Given the description of an element on the screen output the (x, y) to click on. 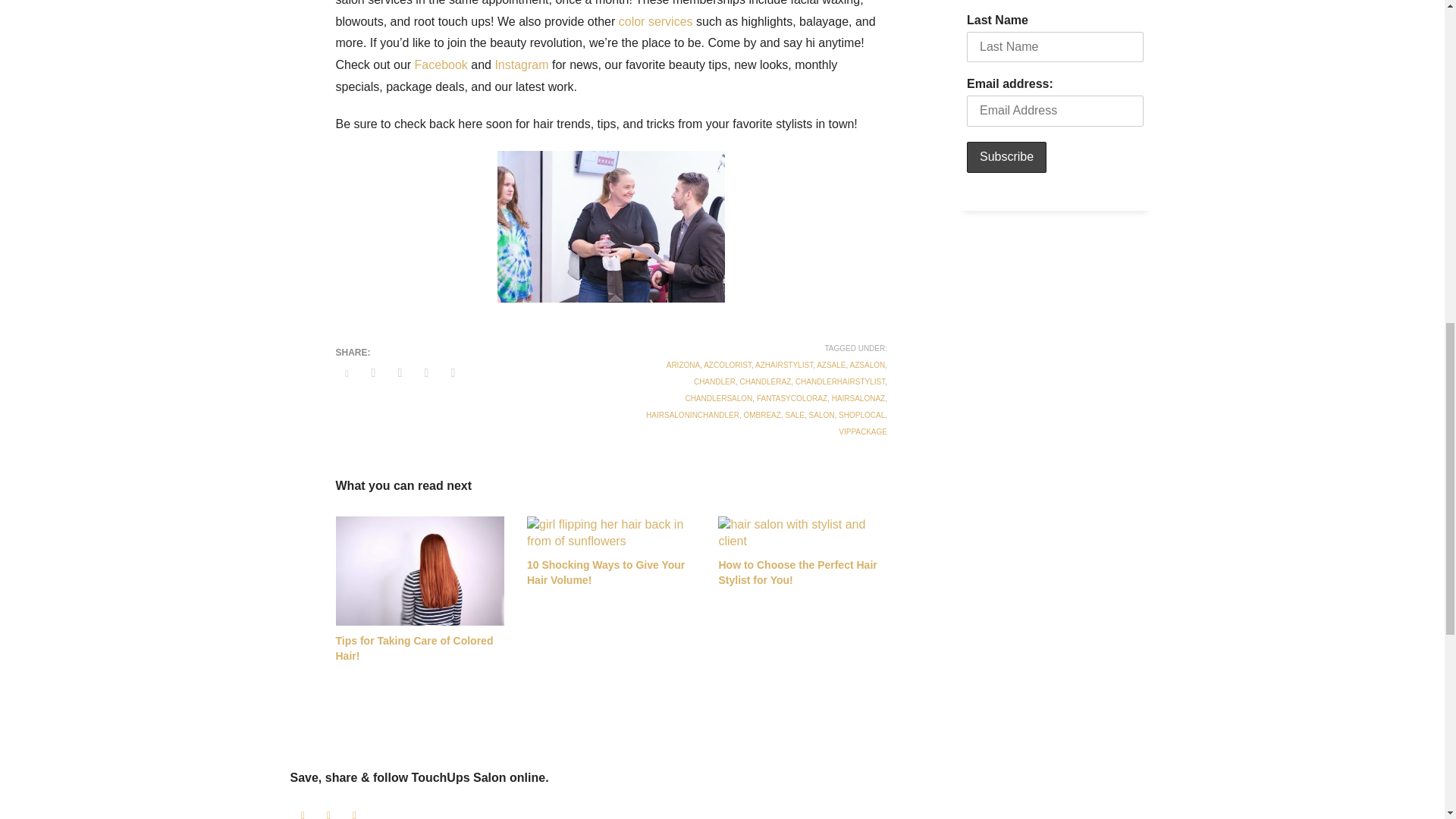
SHARE ON PINTEREST (426, 372)
barber-brushes-chair-696287 (801, 532)
SHARE ON GPLUS (399, 372)
pexels-photo-1154452 (611, 532)
mariahredbyalexia (418, 570)
SHARE ON TWITTER (346, 373)
Subscribe (1006, 156)
SHARE ON MAIL (452, 372)
SHARE ON FACEBOOK (373, 372)
